Given the description of an element on the screen output the (x, y) to click on. 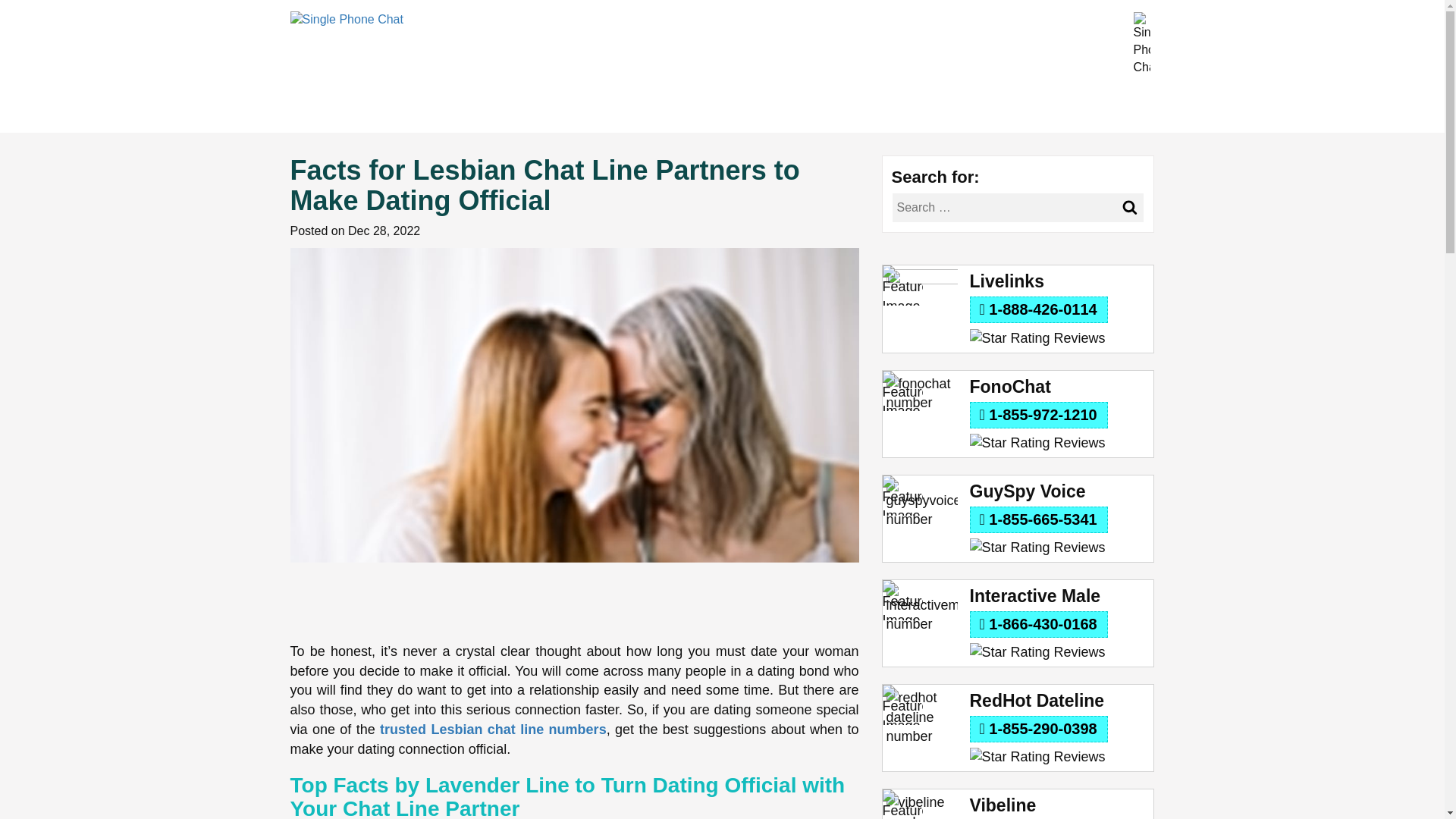
Livelinks (1059, 281)
1-888-426-0114 (1037, 309)
1-855-665-5341 (1037, 519)
1-866-430-0168 (1037, 624)
Interactive Male (1059, 596)
trusted Lesbian chat line numbers (493, 729)
GuySpy Voice (1059, 491)
FonoChat (1059, 386)
1-855-972-1210 (1037, 415)
